Given the description of an element on the screen output the (x, y) to click on. 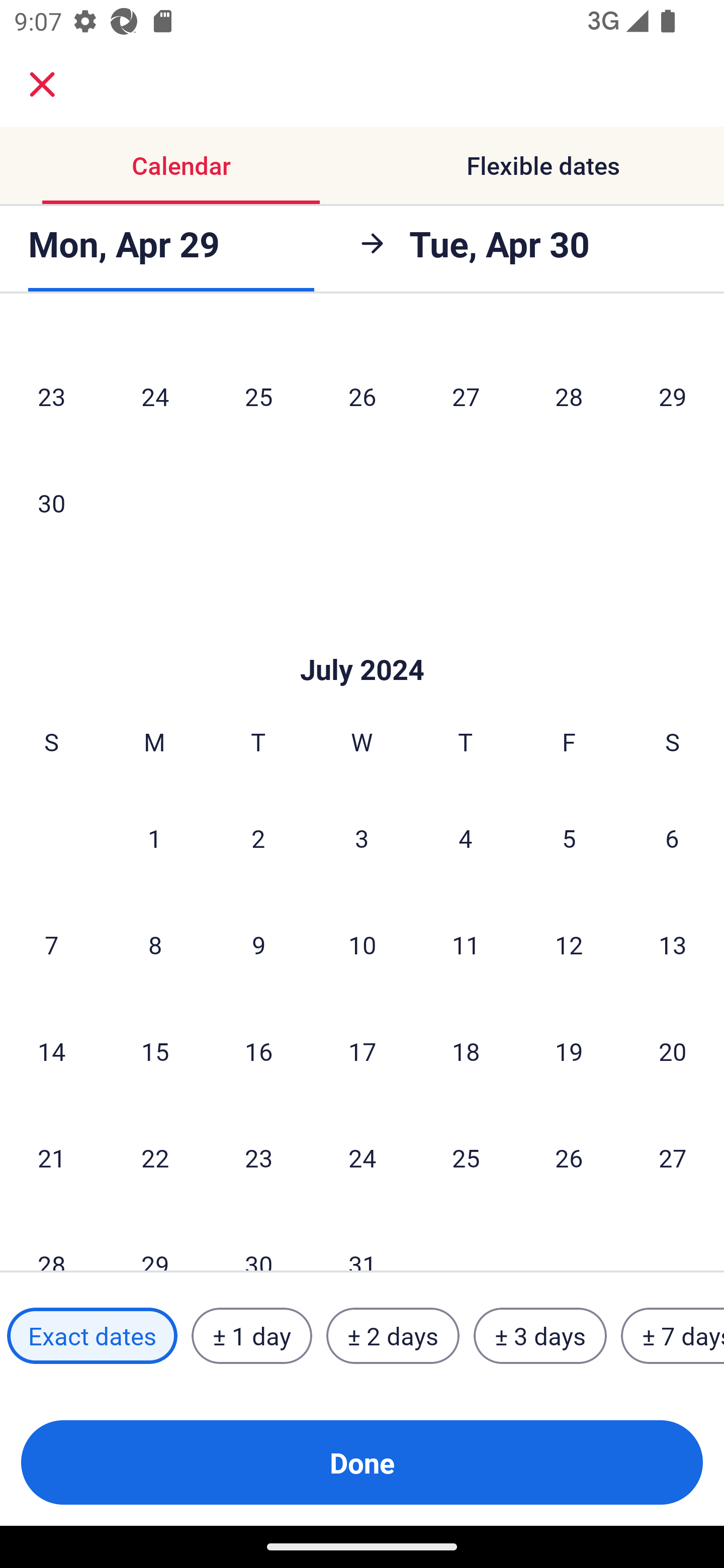
close. (42, 84)
Flexible dates (542, 164)
23 Sunday, June 23, 2024 (51, 396)
24 Monday, June 24, 2024 (155, 396)
25 Tuesday, June 25, 2024 (258, 396)
26 Wednesday, June 26, 2024 (362, 396)
27 Thursday, June 27, 2024 (465, 396)
28 Friday, June 28, 2024 (569, 396)
29 Saturday, June 29, 2024 (672, 396)
30 Sunday, June 30, 2024 (51, 503)
Skip to Done (362, 639)
1 Monday, July 1, 2024 (154, 838)
2 Tuesday, July 2, 2024 (257, 838)
3 Wednesday, July 3, 2024 (361, 838)
4 Thursday, July 4, 2024 (465, 838)
5 Friday, July 5, 2024 (568, 838)
6 Saturday, July 6, 2024 (672, 838)
7 Sunday, July 7, 2024 (51, 944)
8 Monday, July 8, 2024 (155, 944)
9 Tuesday, July 9, 2024 (258, 944)
10 Wednesday, July 10, 2024 (362, 944)
11 Thursday, July 11, 2024 (465, 944)
12 Friday, July 12, 2024 (569, 944)
13 Saturday, July 13, 2024 (672, 944)
14 Sunday, July 14, 2024 (51, 1051)
15 Monday, July 15, 2024 (155, 1051)
16 Tuesday, July 16, 2024 (258, 1051)
17 Wednesday, July 17, 2024 (362, 1051)
18 Thursday, July 18, 2024 (465, 1051)
19 Friday, July 19, 2024 (569, 1051)
20 Saturday, July 20, 2024 (672, 1051)
21 Sunday, July 21, 2024 (51, 1156)
22 Monday, July 22, 2024 (155, 1156)
23 Tuesday, July 23, 2024 (258, 1156)
24 Wednesday, July 24, 2024 (362, 1156)
25 Thursday, July 25, 2024 (465, 1156)
26 Friday, July 26, 2024 (569, 1156)
27 Saturday, July 27, 2024 (672, 1156)
28 Sunday, July 28, 2024 (51, 1241)
29 Monday, July 29, 2024 (155, 1241)
30 Tuesday, July 30, 2024 (258, 1241)
31 Wednesday, July 31, 2024 (362, 1241)
Exact dates (92, 1335)
± 1 day (251, 1335)
± 2 days (392, 1335)
± 3 days (539, 1335)
± 7 days (672, 1335)
Done (361, 1462)
